Given the description of an element on the screen output the (x, y) to click on. 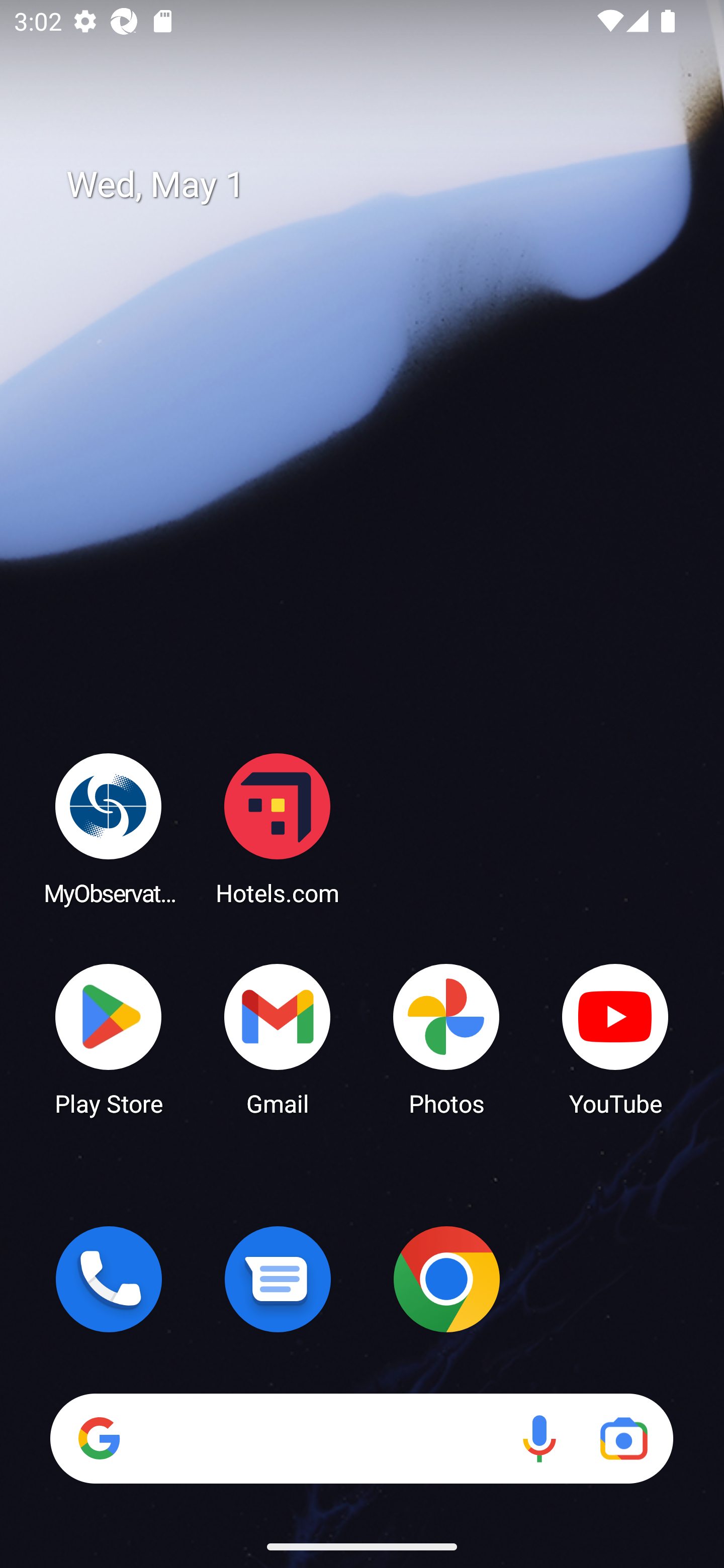
Wed, May 1 (375, 184)
MyObservatory (108, 828)
Hotels.com (277, 828)
Play Store (108, 1038)
Gmail (277, 1038)
Photos (445, 1038)
YouTube (615, 1038)
Phone (108, 1279)
Messages (277, 1279)
Chrome (446, 1279)
Search Voice search Google Lens (361, 1438)
Voice search (539, 1438)
Google Lens (623, 1438)
